Given the description of an element on the screen output the (x, y) to click on. 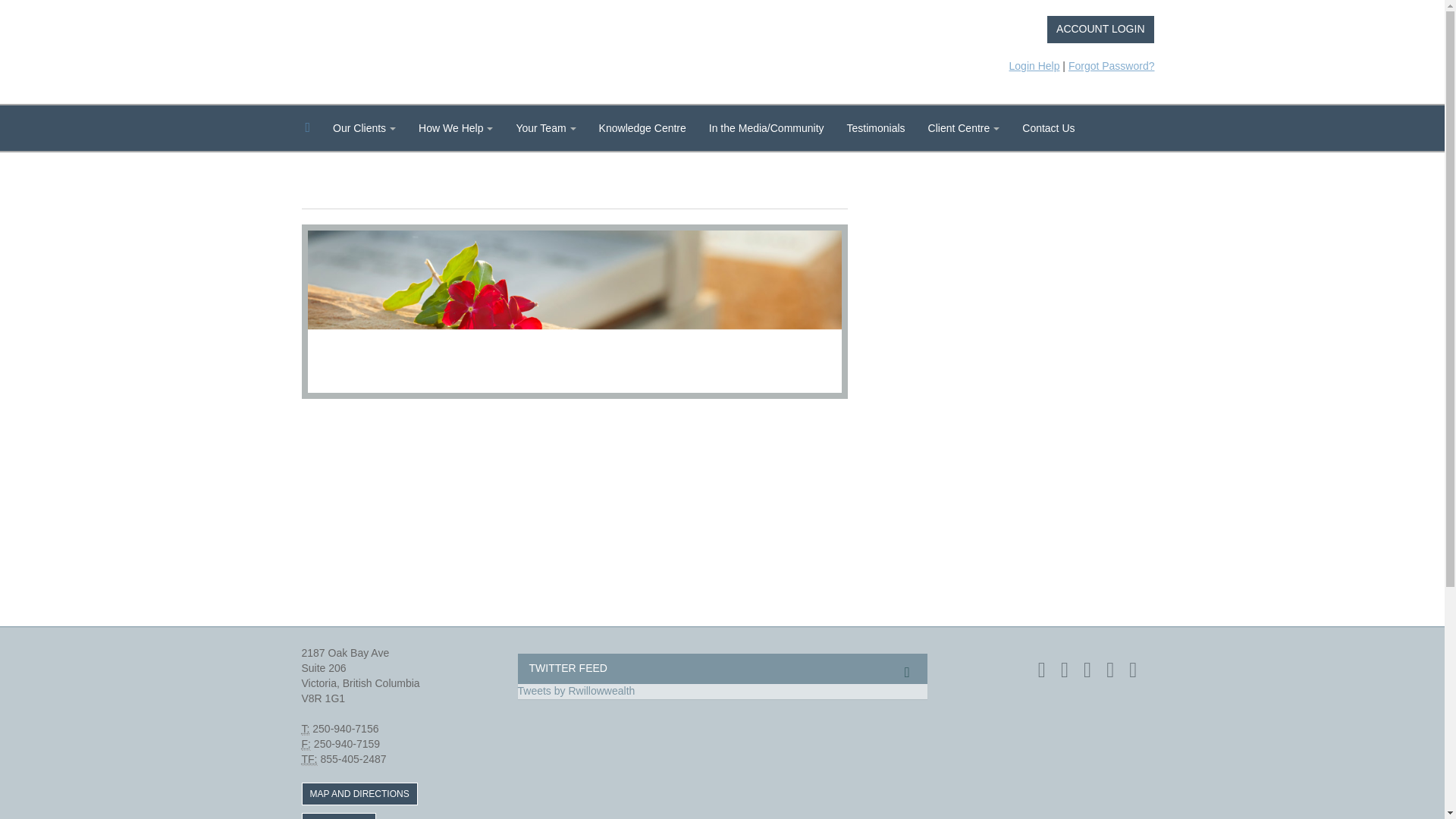
Login Help (1034, 65)
How We Help (455, 127)
Toll Free (309, 758)
Your Team (544, 127)
ACCOUNT LOGIN (1100, 29)
Our Clients (364, 127)
Forgot Password? (1111, 65)
